Given the description of an element on the screen output the (x, y) to click on. 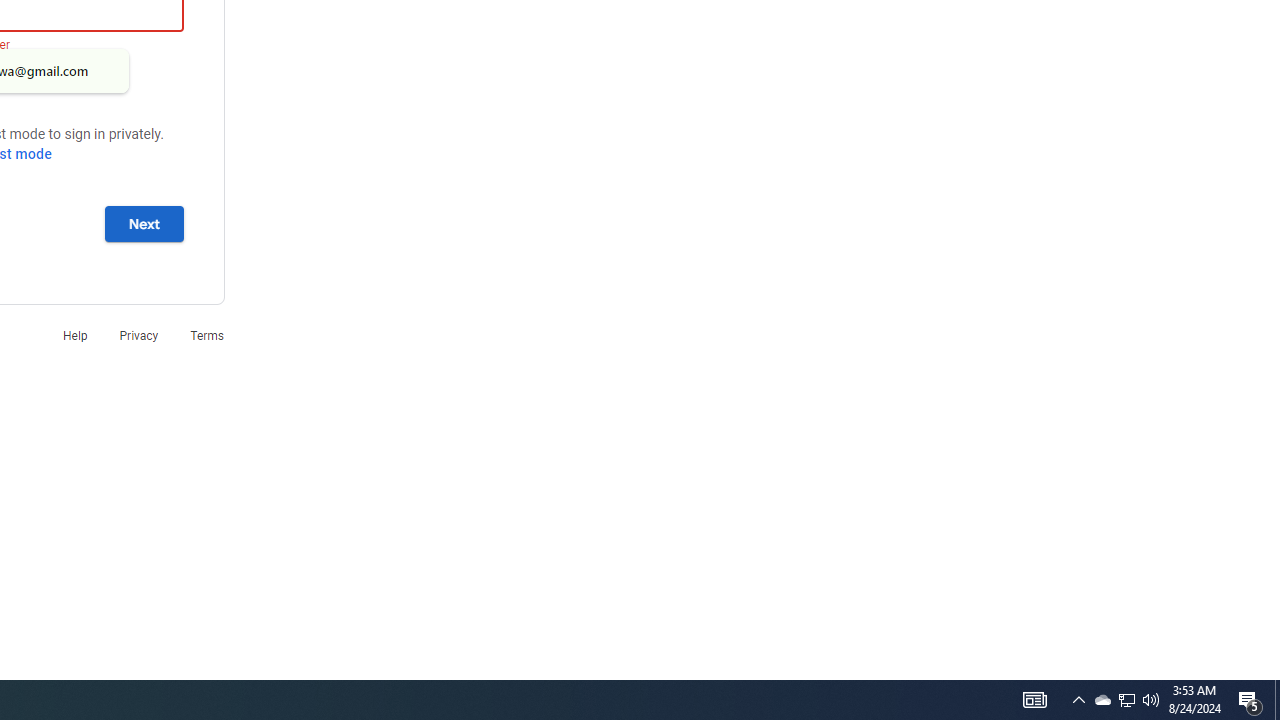
Terms (207, 335)
Next (143, 223)
Help (74, 335)
Privacy (138, 335)
